Given the description of an element on the screen output the (x, y) to click on. 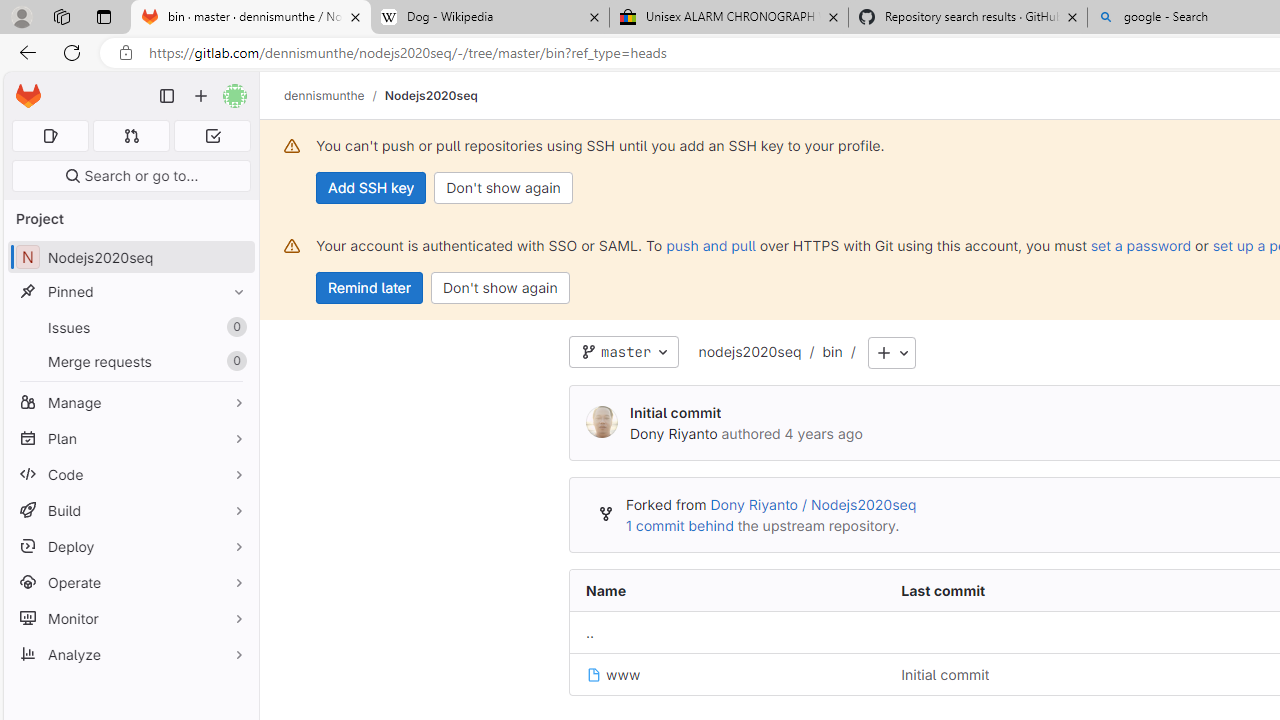
nodejs2020seq (749, 351)
N Nodejs2020seq (130, 257)
Analyze (130, 654)
NNodejs2020seq (130, 257)
Dony Riyanto / Nodejs2020seq (813, 505)
Dony Riyanto's avatar (602, 423)
Analyze (130, 654)
www (727, 674)
Unpin Merge requests (234, 361)
Code (130, 474)
Merge requests 0 (130, 361)
Create new... (201, 96)
